Given the description of an element on the screen output the (x, y) to click on. 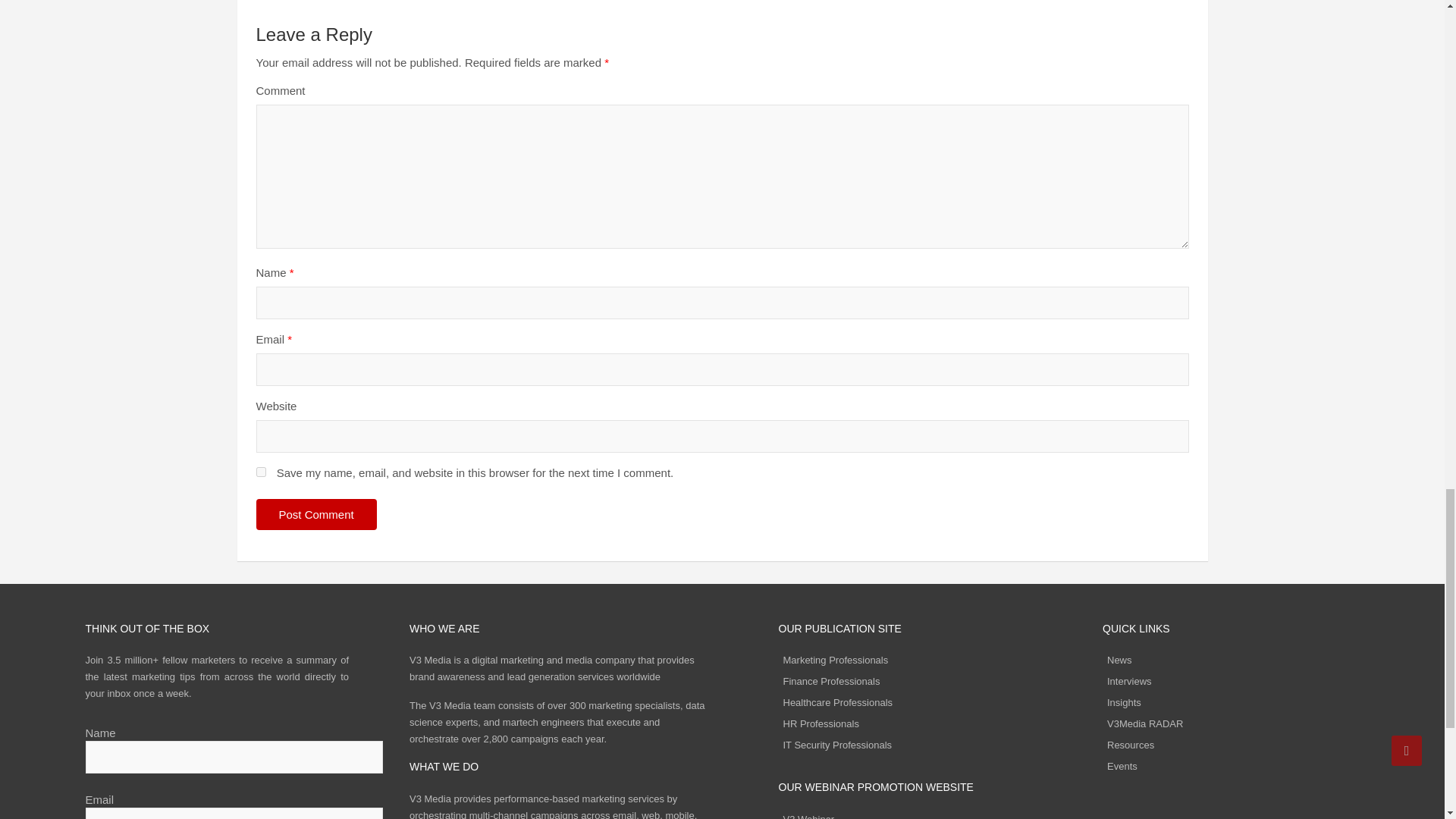
yes (261, 471)
Post Comment (316, 513)
